Given the description of an element on the screen output the (x, y) to click on. 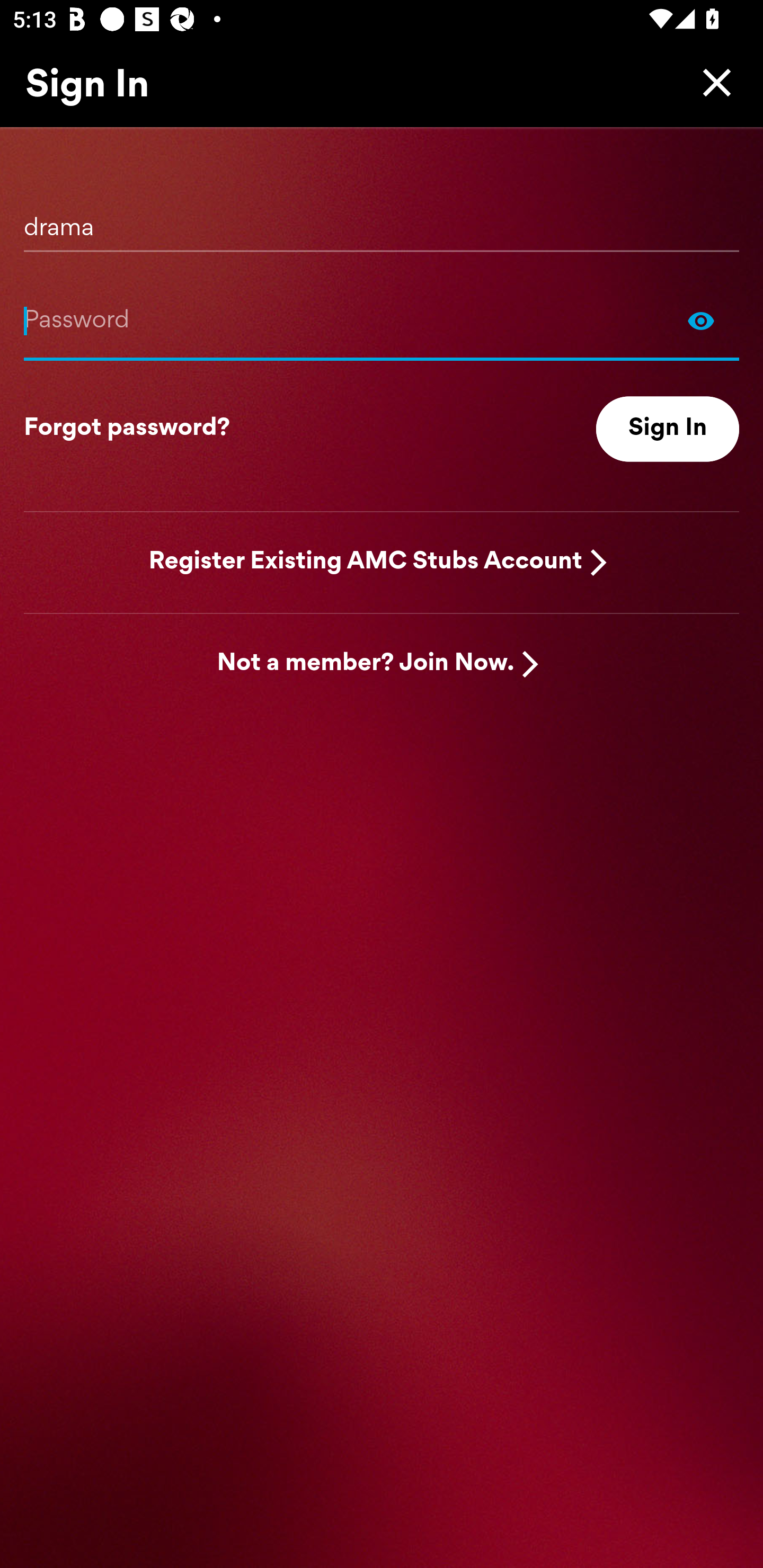
Close (712, 82)
drama (381, 220)
Show Password (381, 320)
Show Password (701, 320)
Forgot password? (126, 428)
Sign In (667, 428)
Register Existing AMC Stubs Account (365, 561)
Not a member? Join Now. (365, 663)
